Given the description of an element on the screen output the (x, y) to click on. 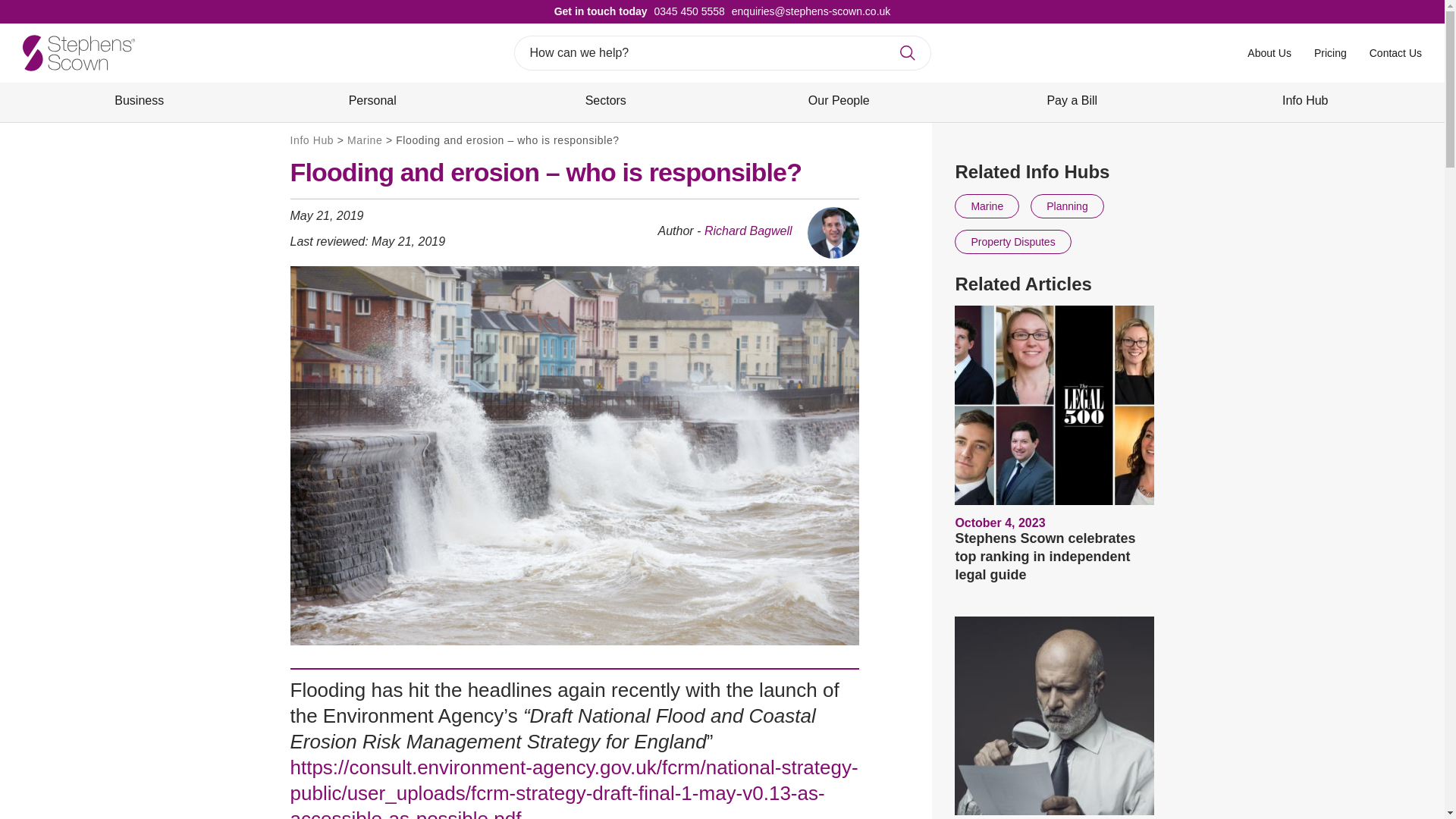
Posts by Richard Bagwell (748, 230)
Go to the Marine Info hub Category archives. (364, 140)
Go to the Info Hub Info hub Category archives. (311, 140)
Contact Us (1396, 52)
0345 450 5558 (686, 10)
Pricing (1330, 52)
About Us (1269, 52)
